Given the description of an element on the screen output the (x, y) to click on. 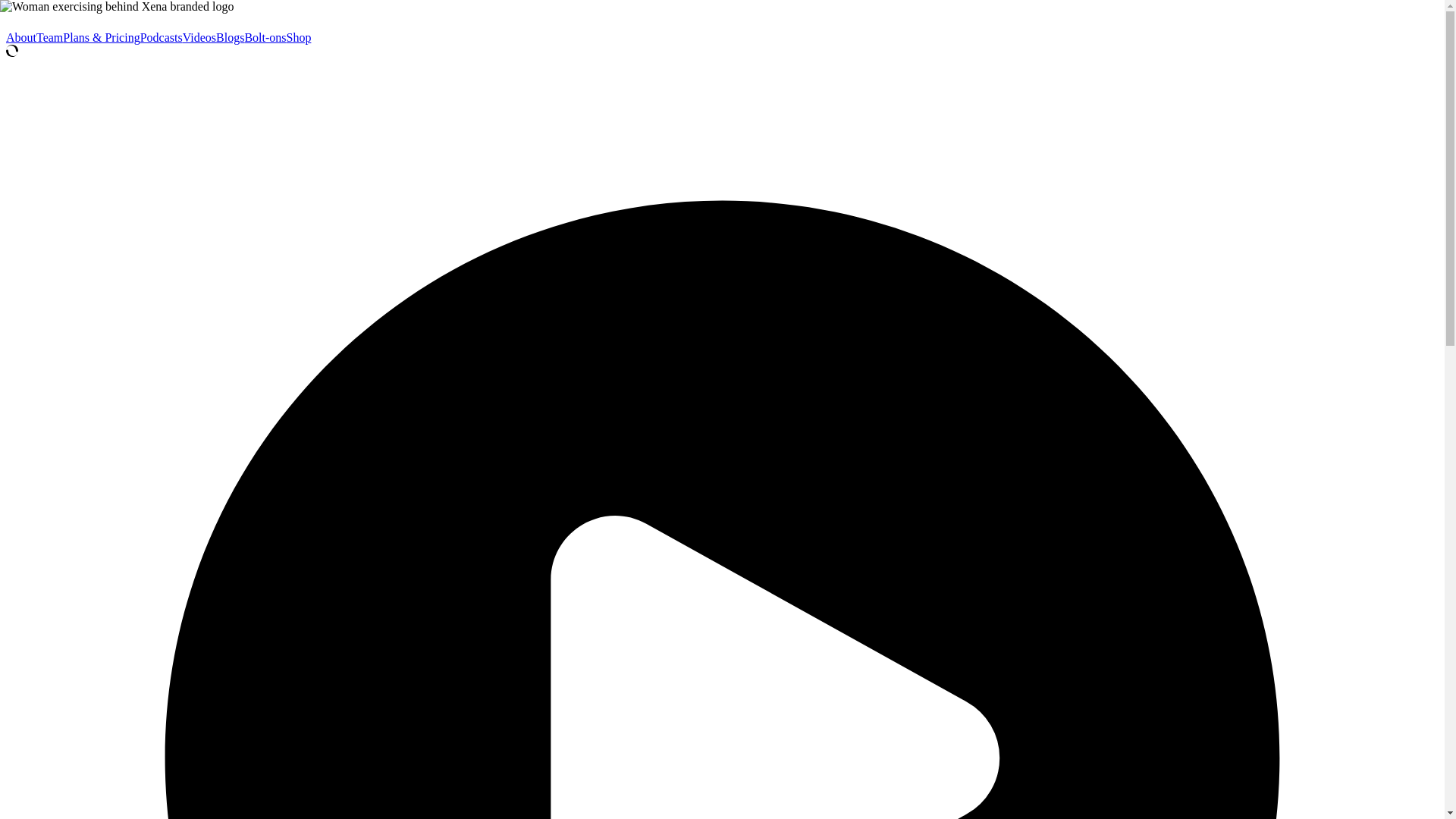
Blogs (229, 37)
Bolt-ons (264, 37)
Team (49, 37)
Videos (199, 37)
Shop (298, 37)
About (20, 37)
Podcasts (161, 37)
